Given the description of an element on the screen output the (x, y) to click on. 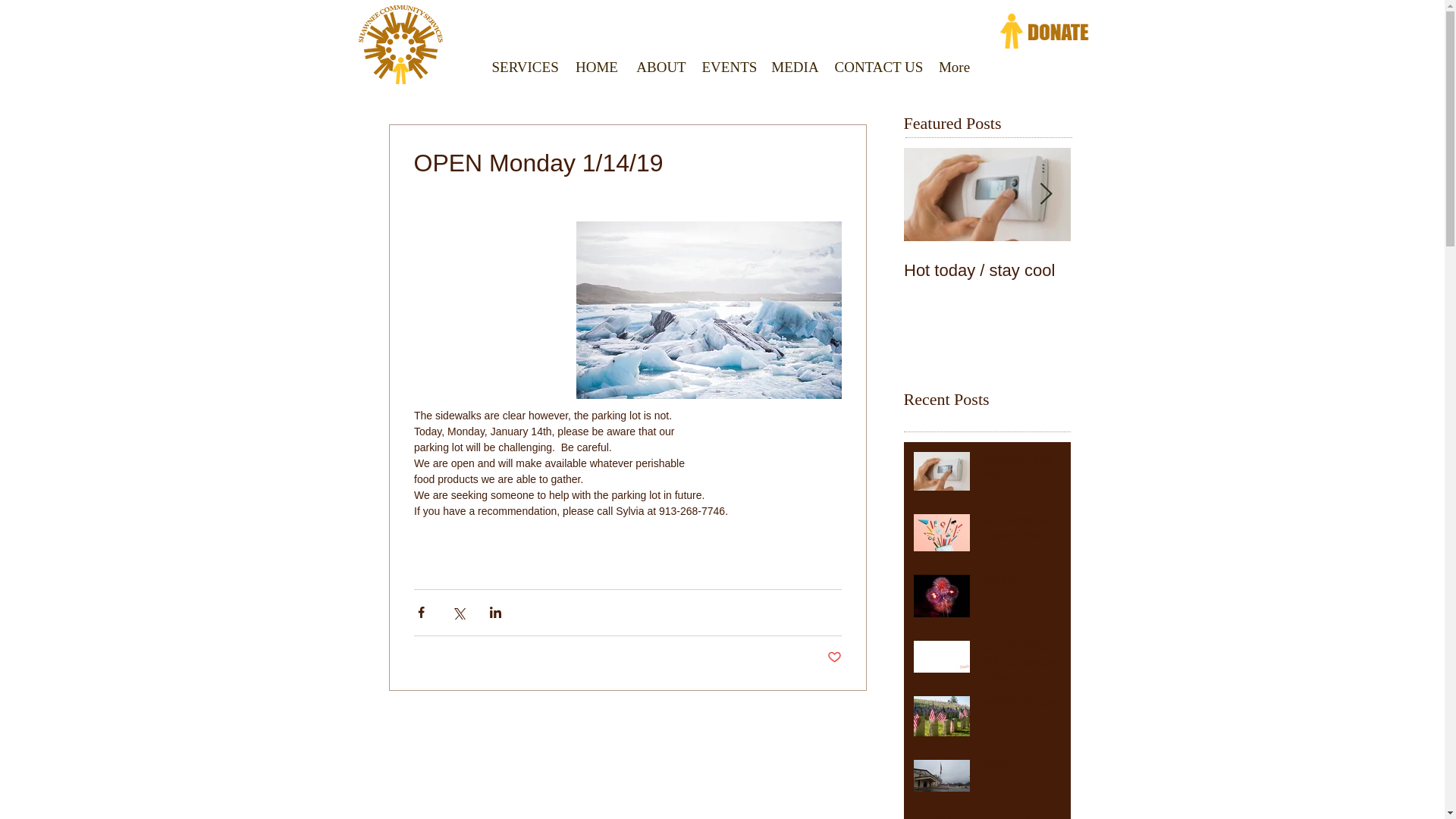
HOME (597, 64)
SERVICES (523, 64)
Back to School supplies drive (1020, 530)
ABOUT (660, 64)
OPEN (1020, 769)
Post not marked as liked (834, 657)
MEMORIAL DAY (1020, 705)
EVENTS (728, 64)
July 4th (1020, 584)
June 26, 2024 Golf Tournament program (1020, 665)
MEDIA (794, 64)
CONTACT US (876, 64)
Back to School supplies drive (1153, 280)
Icy! Unsafe parking lot! (992, 816)
